Given the description of an element on the screen output the (x, y) to click on. 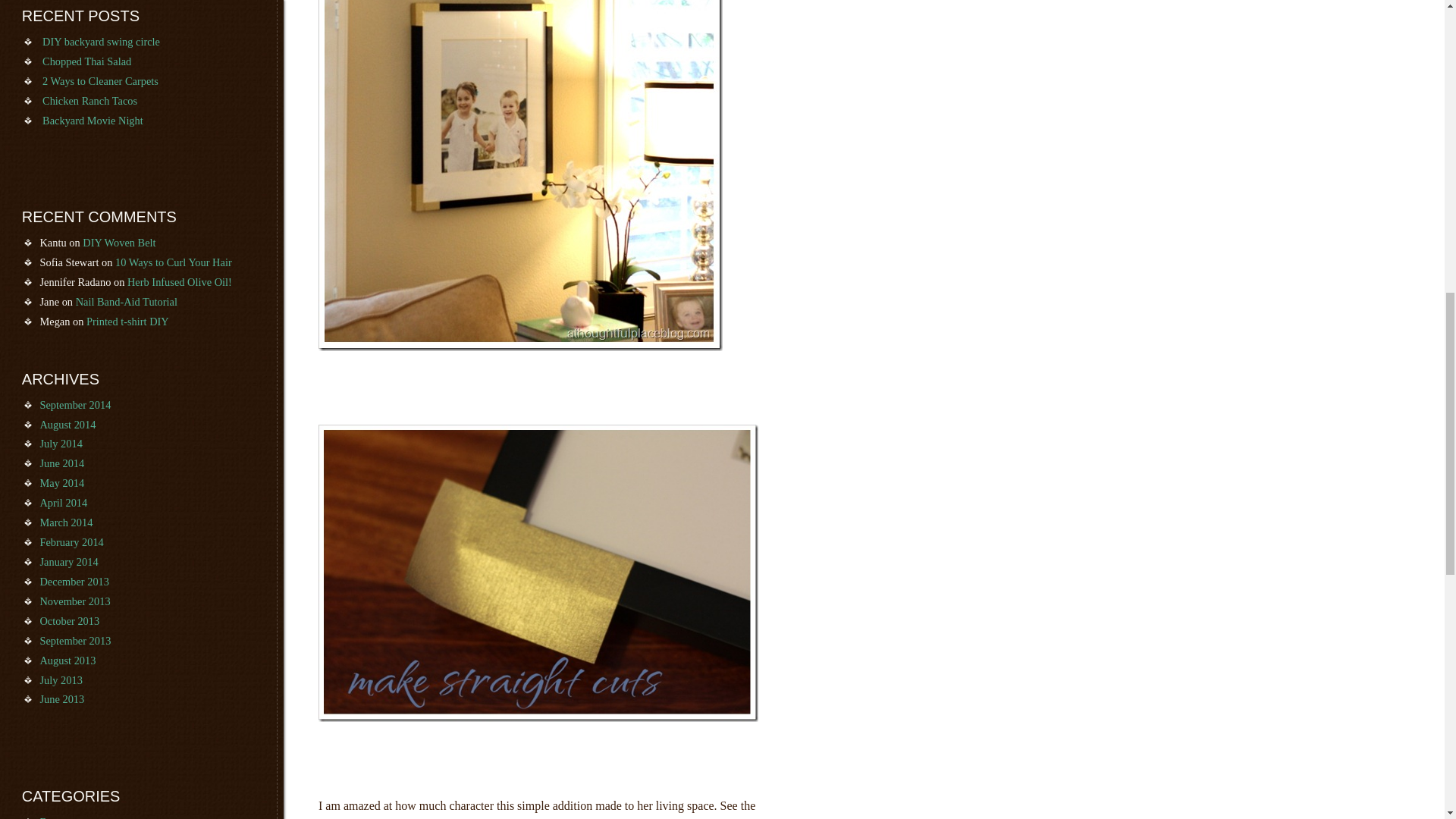
June 2013 (61, 698)
September 2013 (74, 640)
August 2014 (67, 424)
Chopped Thai Salad (86, 61)
July 2013 (60, 680)
March 2014 (66, 522)
September 2014 (74, 404)
February 2014 (71, 541)
December 2013 (74, 581)
January 2014 (68, 562)
Chicken Ranch Tacos (89, 101)
May 2014 (61, 482)
Printed t-shirt DIY (126, 321)
July 2014 (60, 443)
November 2013 (74, 601)
